Given the description of an element on the screen output the (x, y) to click on. 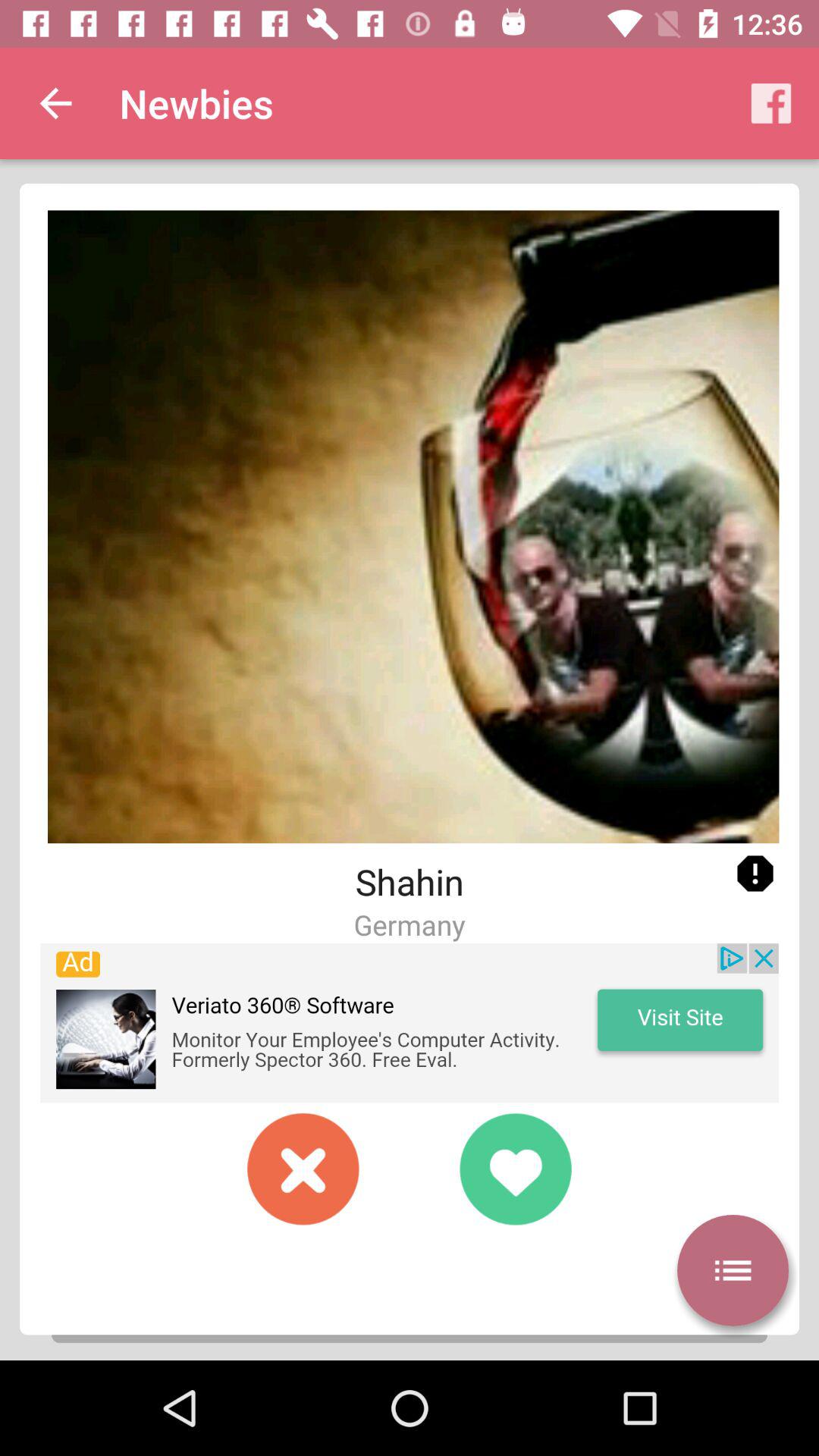
select favorite option (515, 1169)
